Given the description of an element on the screen output the (x, y) to click on. 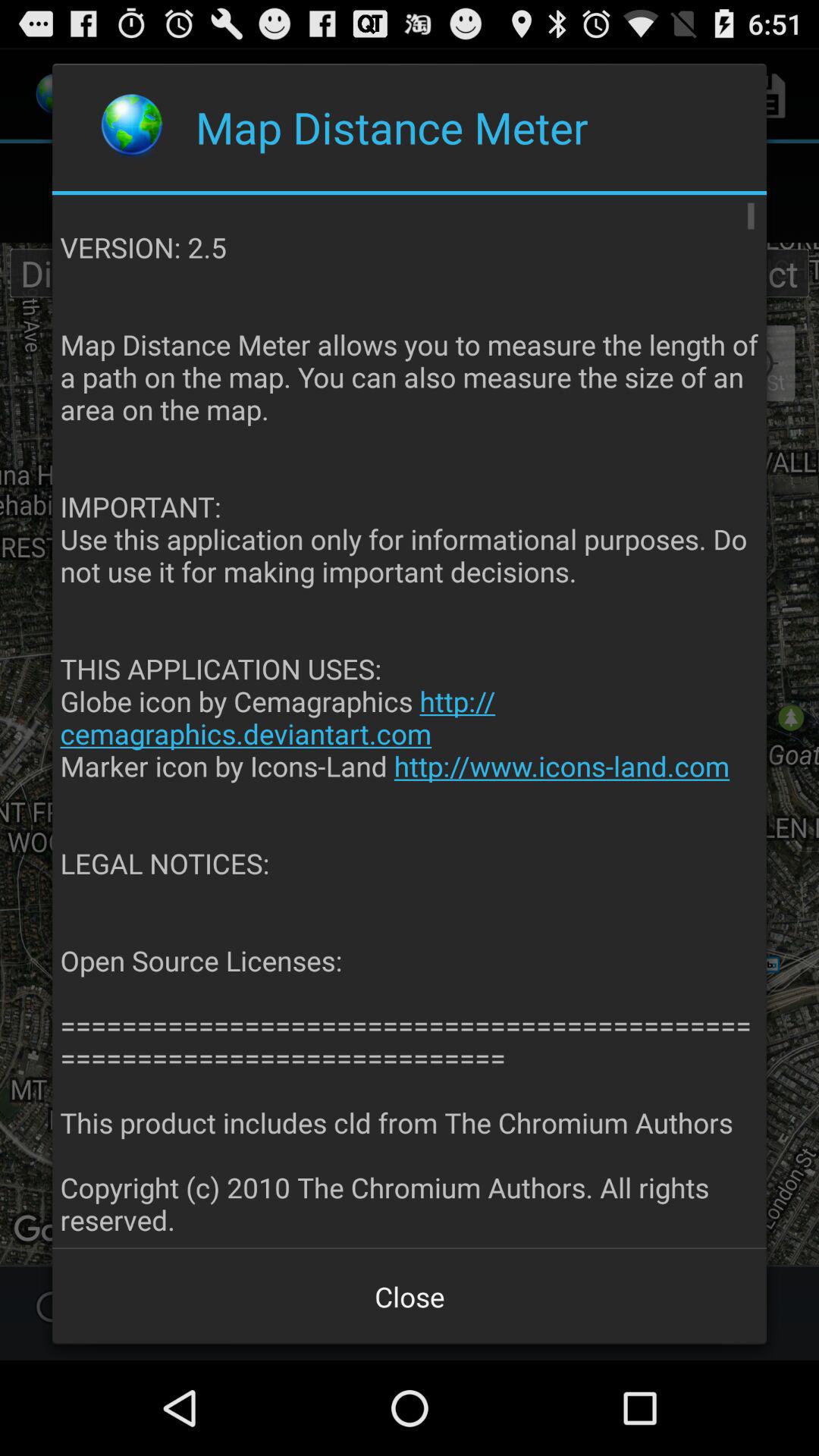
scroll until the close item (409, 1296)
